Given the description of an element on the screen output the (x, y) to click on. 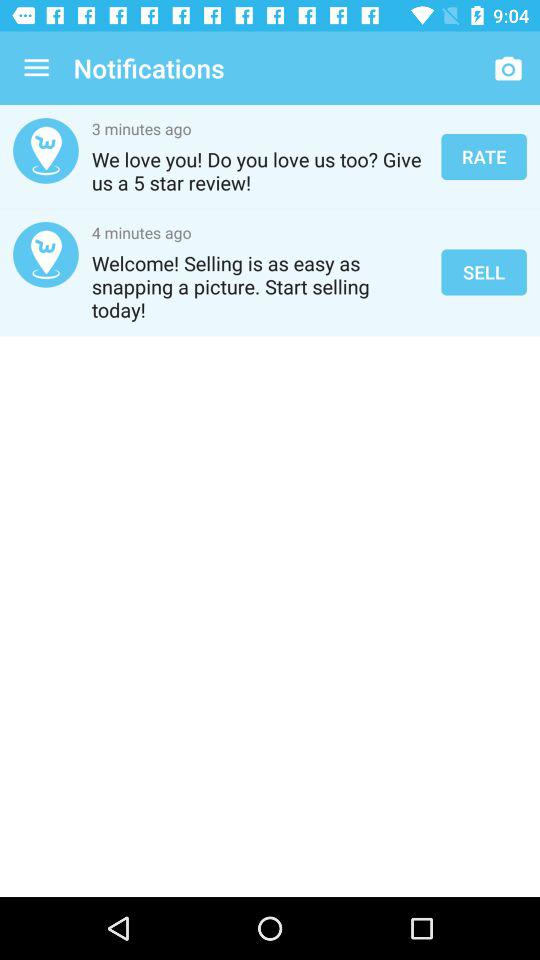
open the icon to the right of 3 minutes ago item (483, 156)
